Given the description of an element on the screen output the (x, y) to click on. 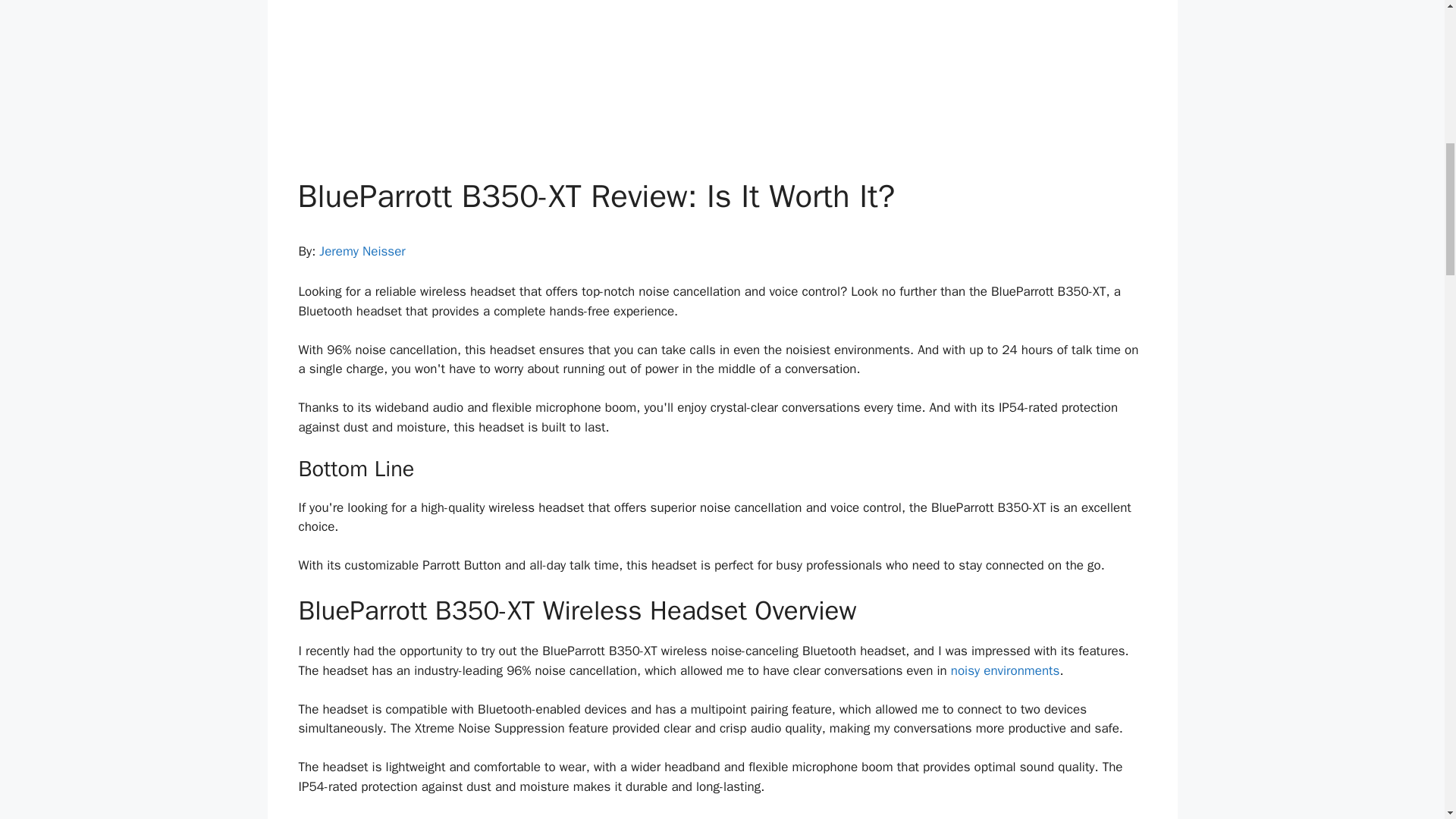
noisy environments (1004, 670)
Jeremy Neisser (361, 251)
